Given the description of an element on the screen output the (x, y) to click on. 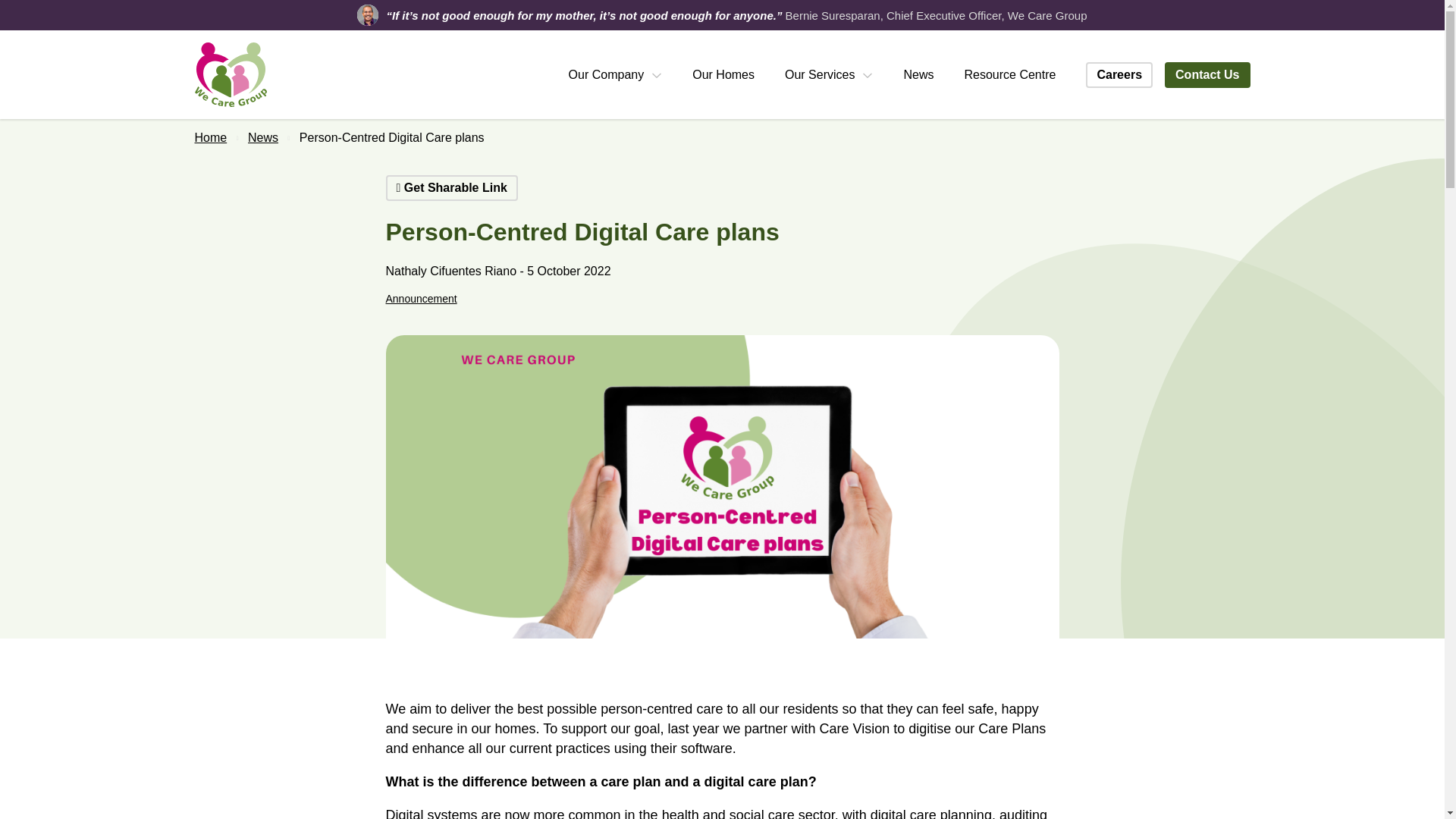
Announcement (421, 298)
Get Sharable Link (450, 187)
Resource Centre (1009, 74)
News (917, 74)
Home (210, 137)
Contact Us (1206, 74)
Careers (1119, 74)
News (262, 137)
Our Services (828, 74)
Our Homes (723, 74)
Our Company (615, 74)
